Given the description of an element on the screen output the (x, y) to click on. 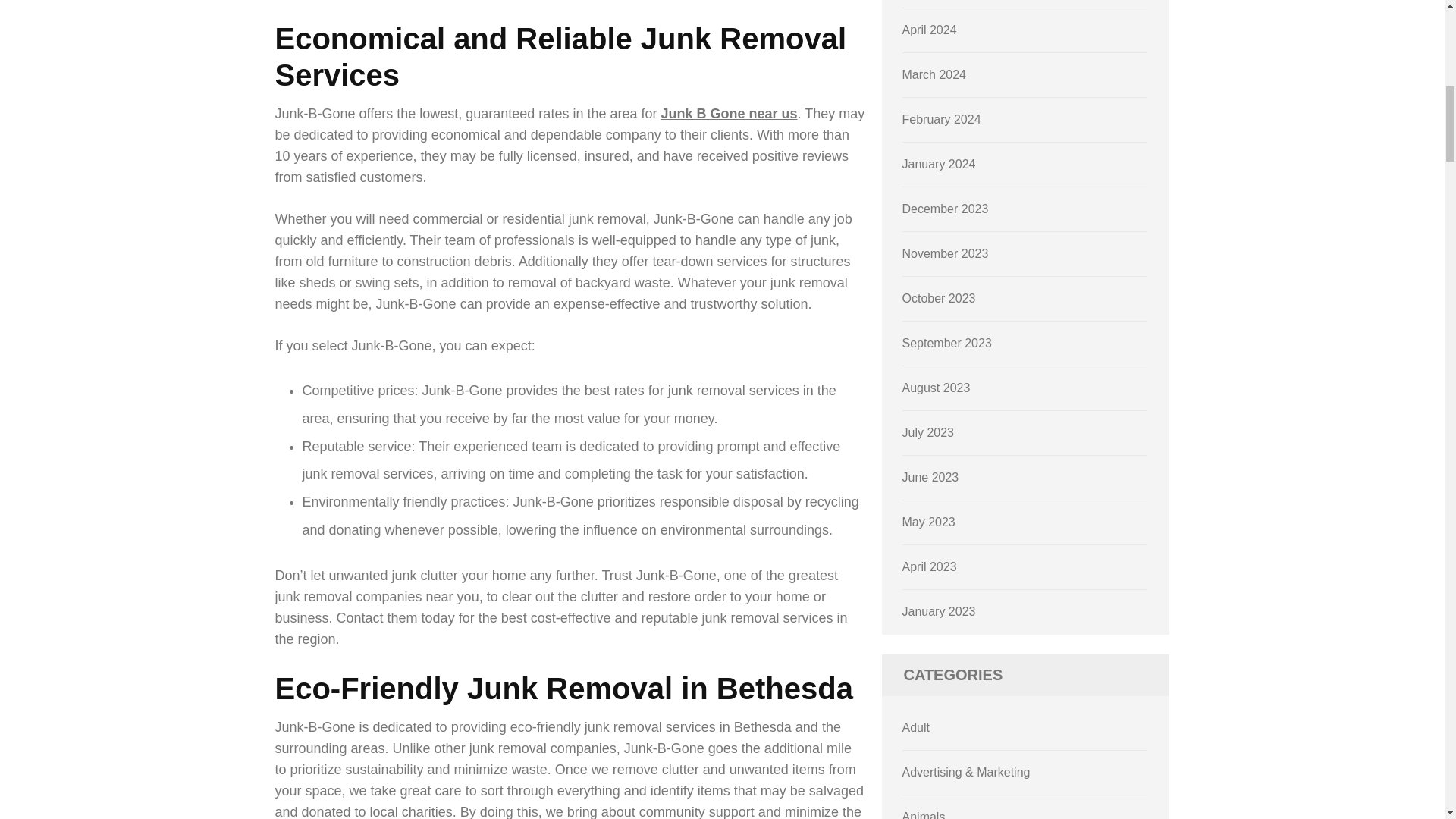
January 2024 (938, 164)
Junk B Gone near us (728, 113)
December 2023 (945, 208)
May 2023 (928, 521)
October 2023 (938, 297)
March 2024 (934, 74)
April 2023 (929, 566)
February 2024 (941, 119)
September 2023 (946, 342)
January 2023 (938, 611)
